Given the description of an element on the screen output the (x, y) to click on. 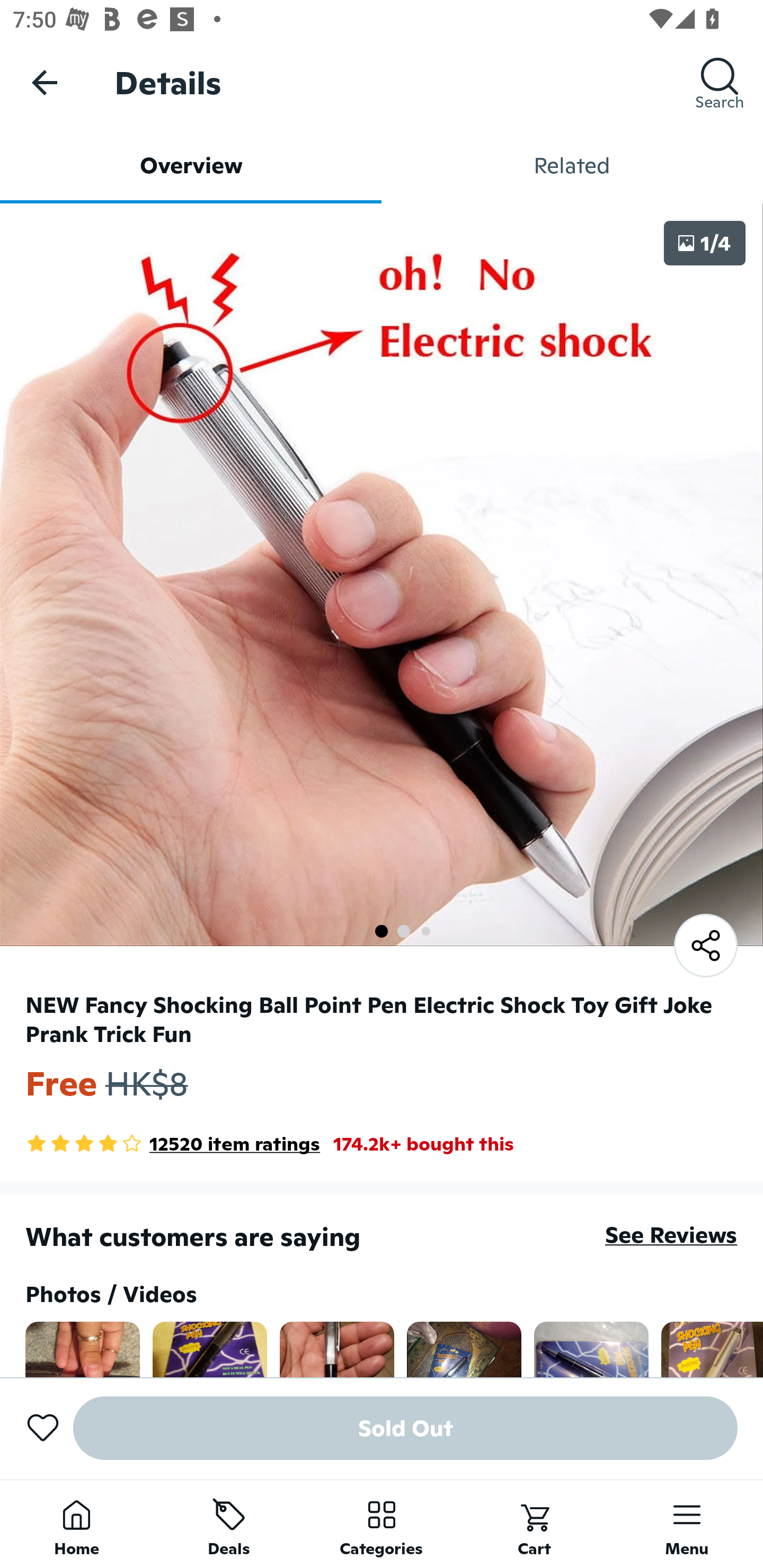
Navigate up (44, 82)
Search (719, 82)
Related (572, 165)
1/4 (704, 242)
3.9 Star Rating 12520 item ratings (172, 1143)
See Reviews (671, 1234)
Sold Out (405, 1428)
Home (76, 1523)
Deals (228, 1523)
Categories (381, 1523)
Cart (533, 1523)
Menu (686, 1523)
